Given the description of an element on the screen output the (x, y) to click on. 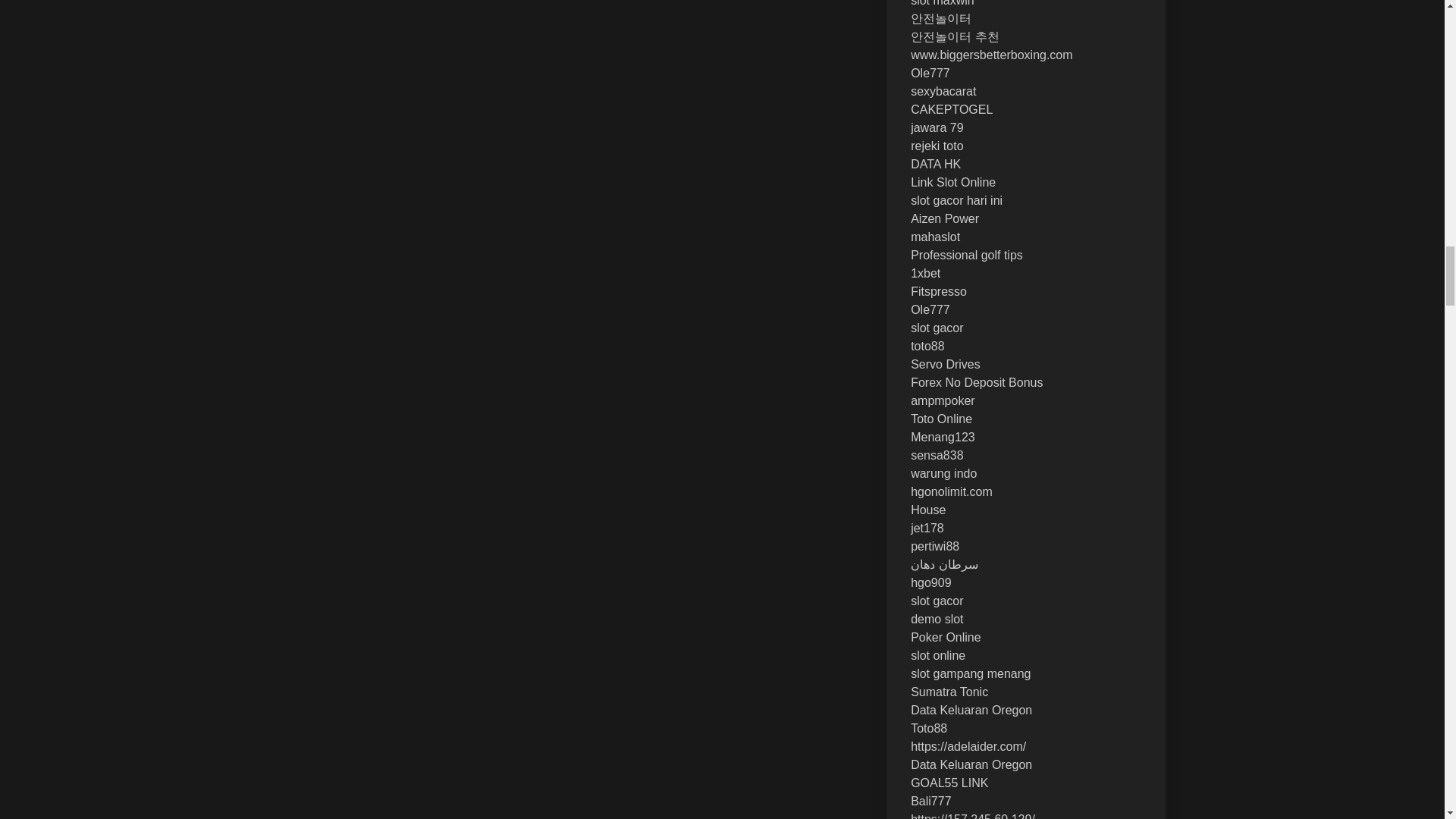
1xbet (925, 273)
